Given the description of an element on the screen output the (x, y) to click on. 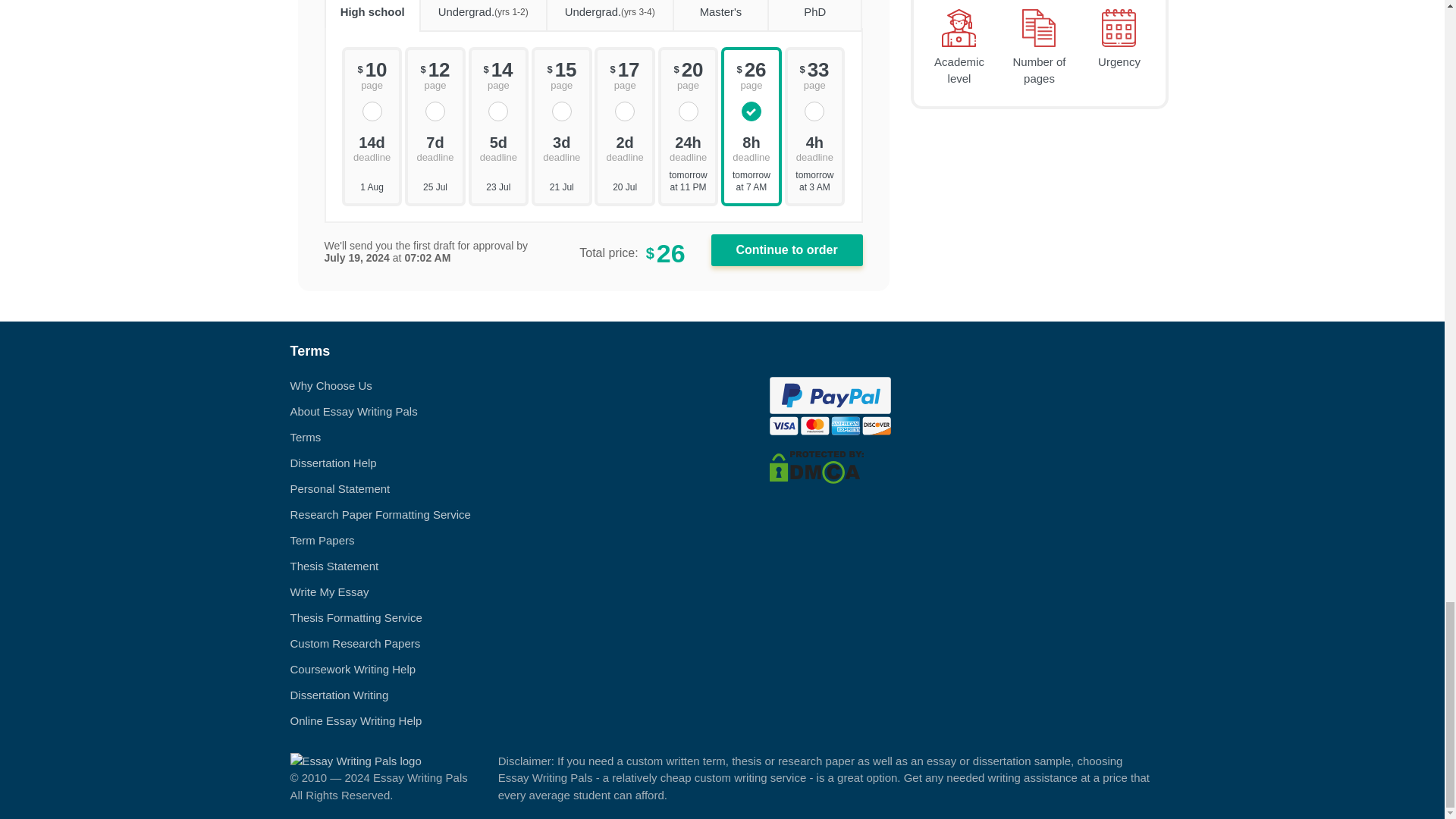
5 days (499, 147)
Research Paper Formatting Service (379, 513)
Why Choose Us (330, 385)
Thesis Statement (333, 565)
Dissertation Help (332, 462)
2 days (624, 147)
Coursework Writing Help (351, 668)
Custom Research Papers (354, 643)
Continue to order (787, 250)
Term Papers (321, 540)
Terms (304, 436)
Personal Statement (339, 488)
Thesis Formatting Service (355, 617)
Write My Essay (328, 591)
Online Essay Writing Help (355, 720)
